Given the description of an element on the screen output the (x, y) to click on. 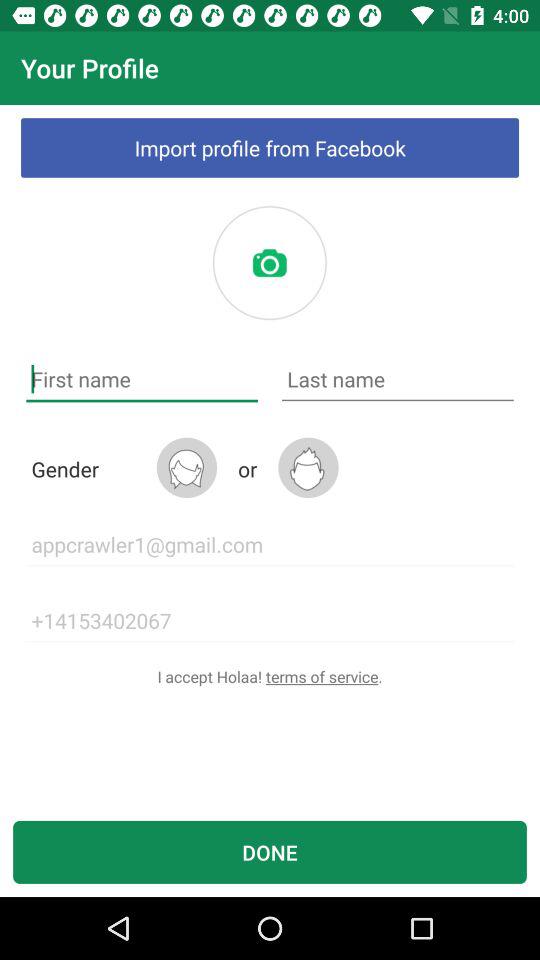
click the item next to the or (186, 467)
